Given the description of an element on the screen output the (x, y) to click on. 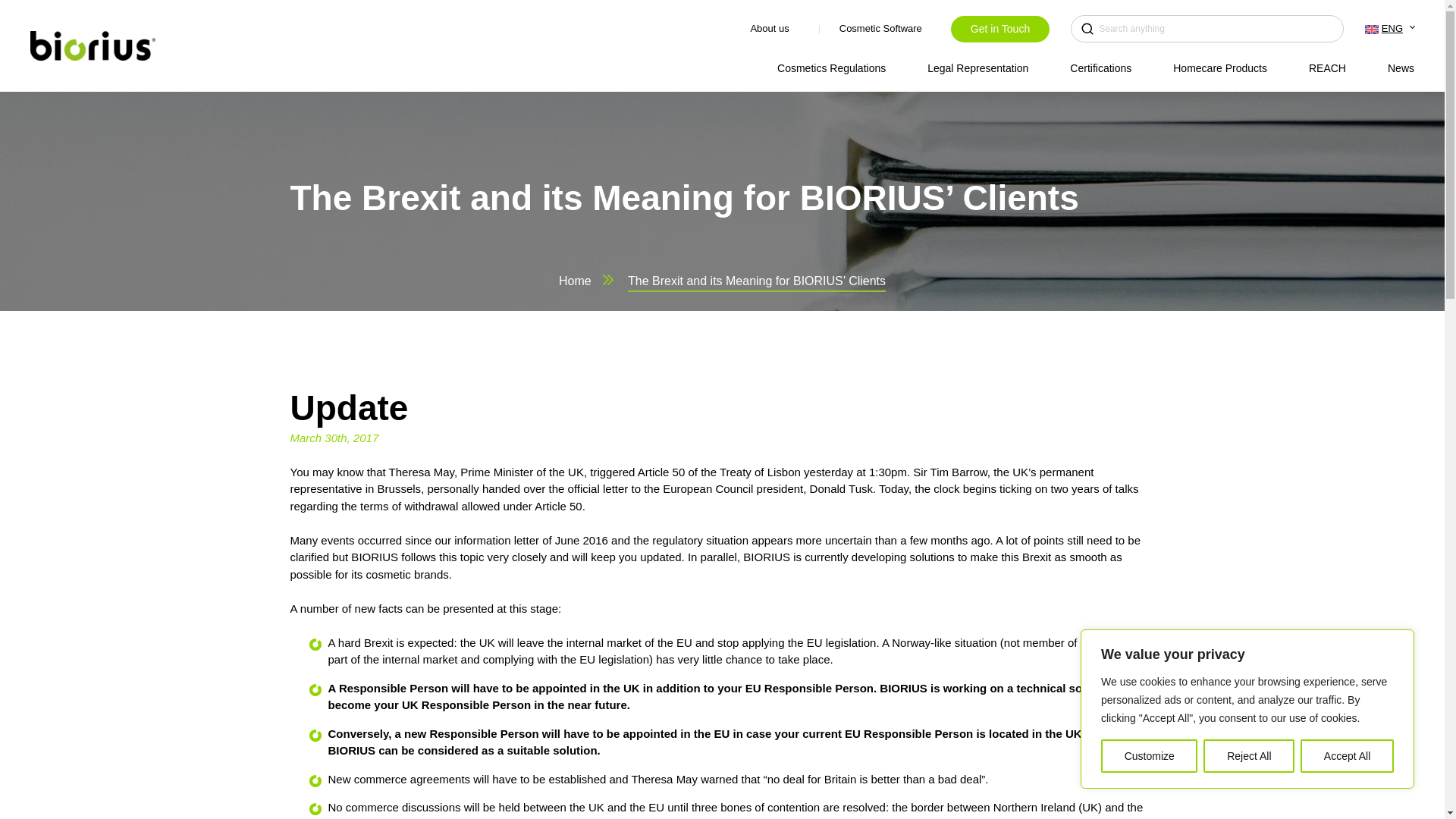
About us (772, 28)
Accept All (1346, 756)
Search for: (1206, 28)
Customize (1148, 756)
ENG (1397, 28)
Cosmetics Regulations (831, 68)
Cosmetic Software (885, 28)
Reject All (1249, 756)
Get in Touch (999, 28)
